Given the description of an element on the screen output the (x, y) to click on. 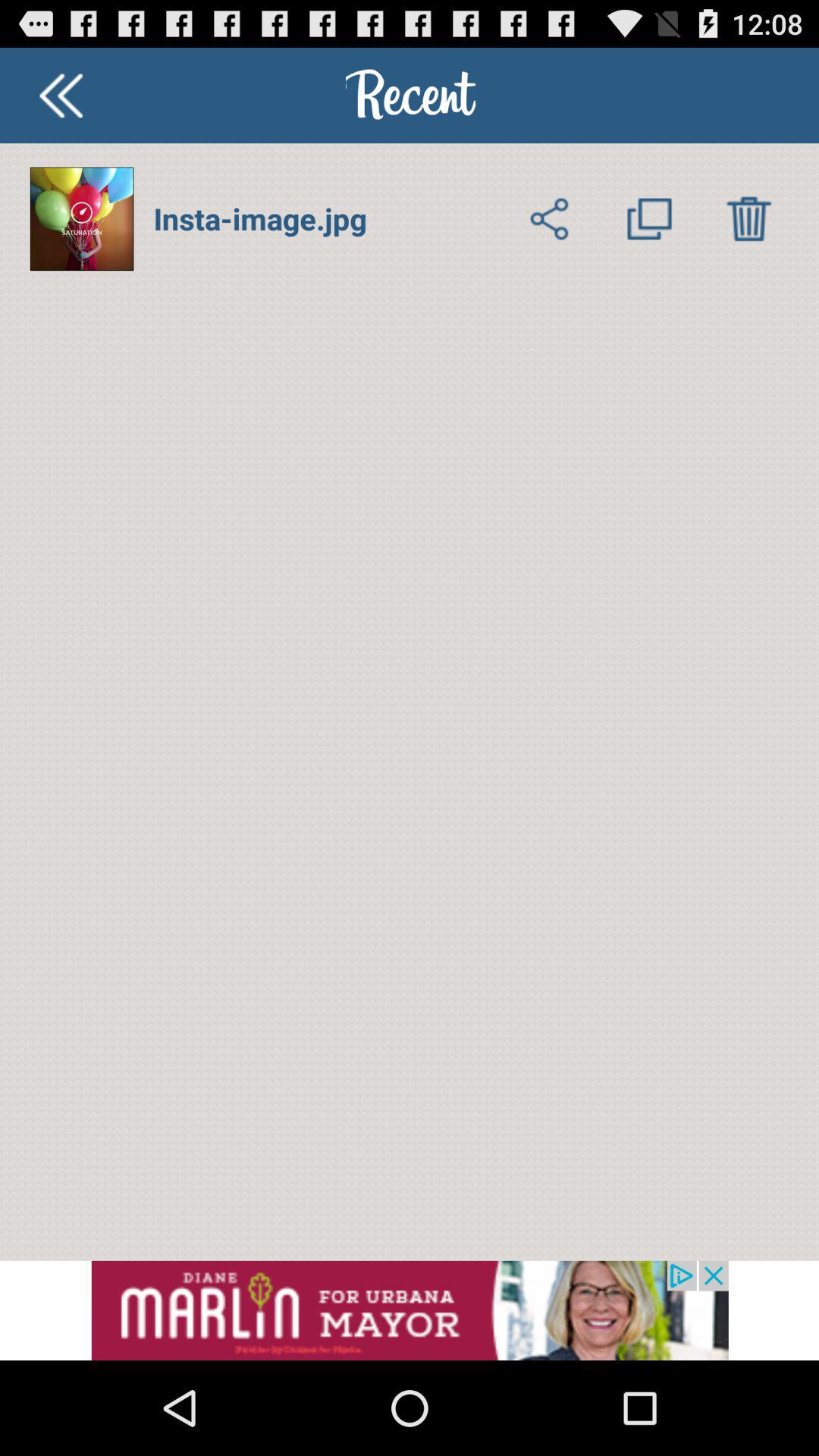
share (549, 218)
